Given the description of an element on the screen output the (x, y) to click on. 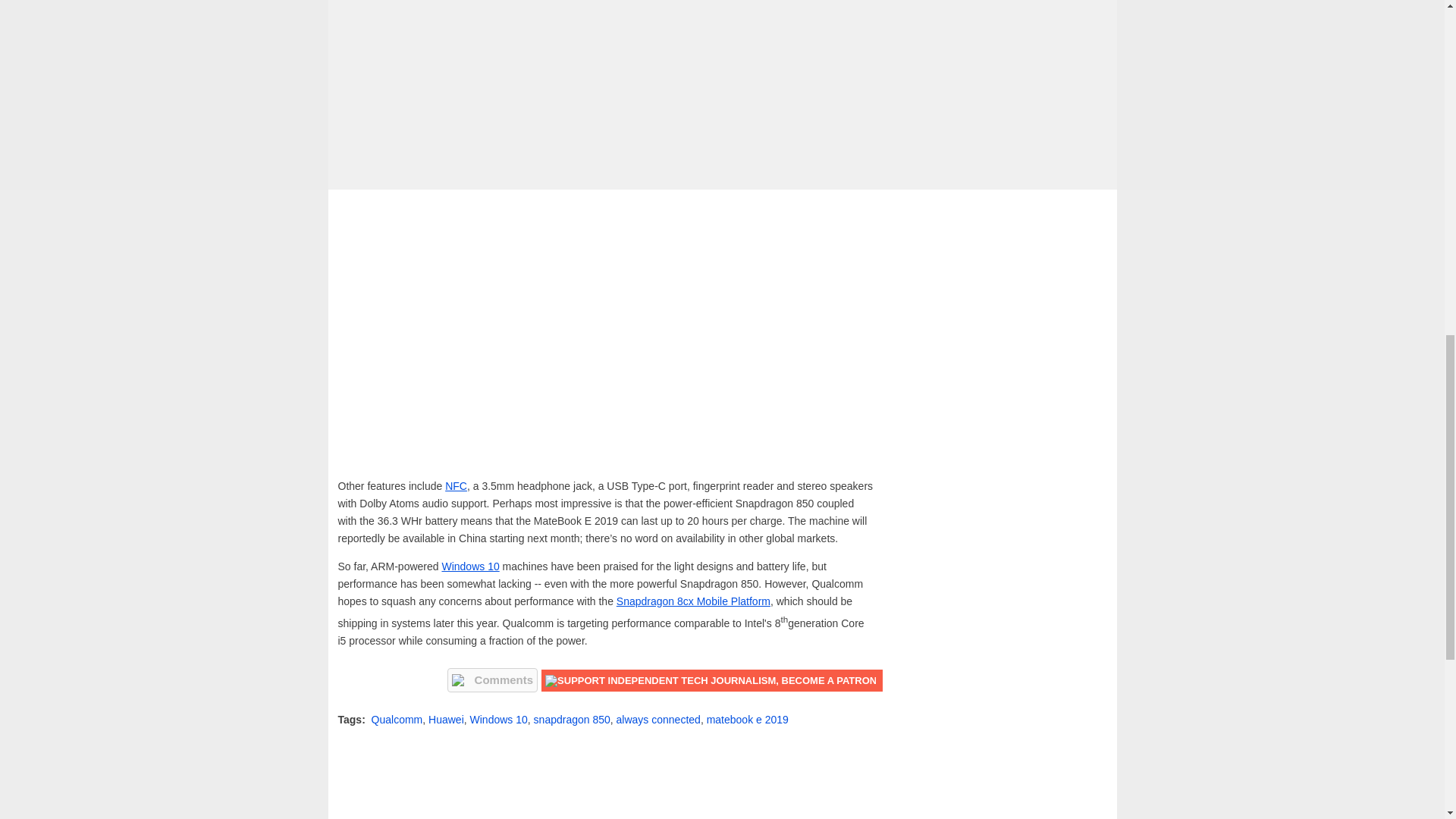
Comments (492, 680)
